Given the description of an element on the screen output the (x, y) to click on. 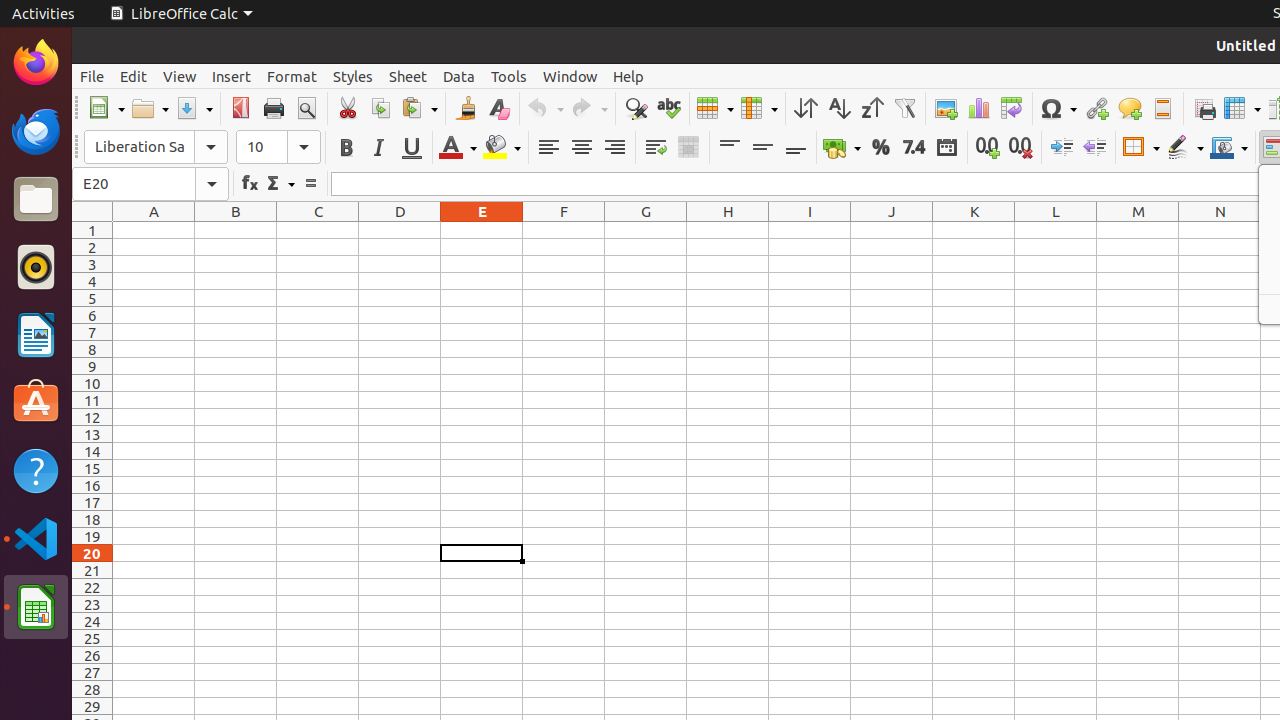
Thunderbird Mail Element type: push-button (36, 131)
Files Element type: push-button (36, 199)
Visual Studio Code Element type: push-button (36, 538)
Firefox Web Browser Element type: push-button (36, 63)
LibreOffice Calc Element type: push-button (36, 607)
